Given the description of an element on the screen output the (x, y) to click on. 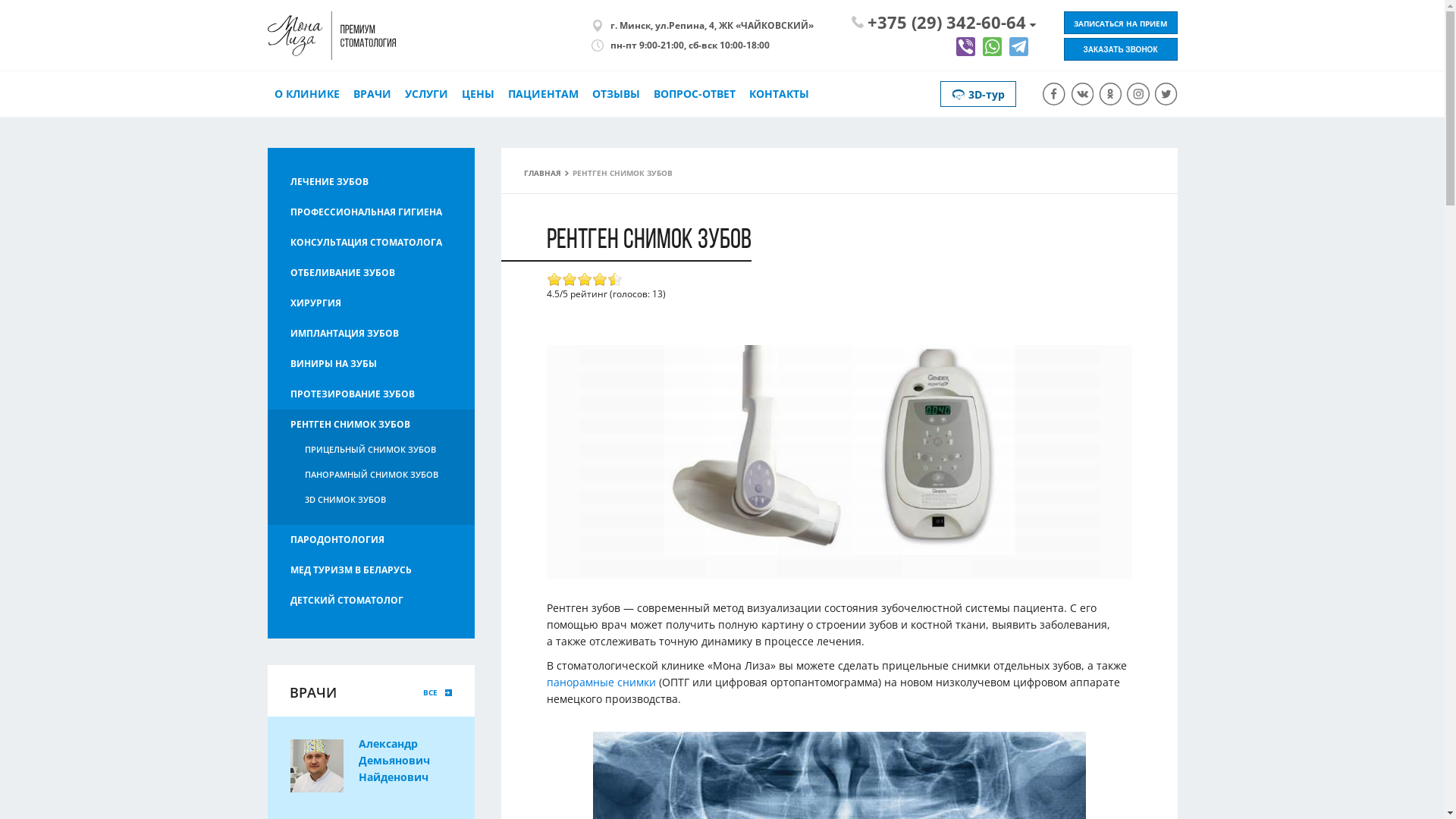
+375 (29) 342-60-64 Element type: text (937, 21)
